Given the description of an element on the screen output the (x, y) to click on. 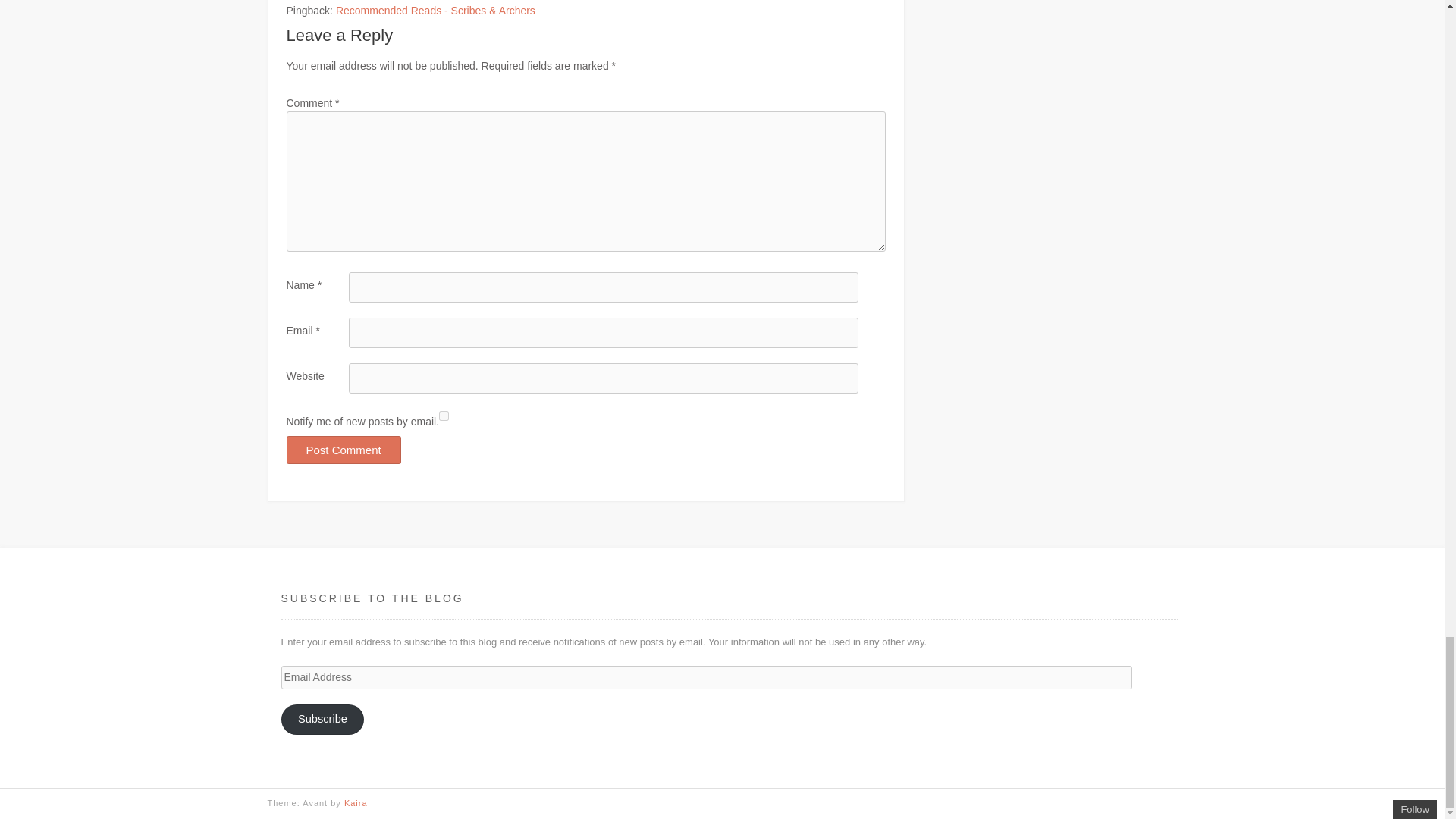
Post Comment (343, 449)
subscribe (443, 415)
